Given the description of an element on the screen output the (x, y) to click on. 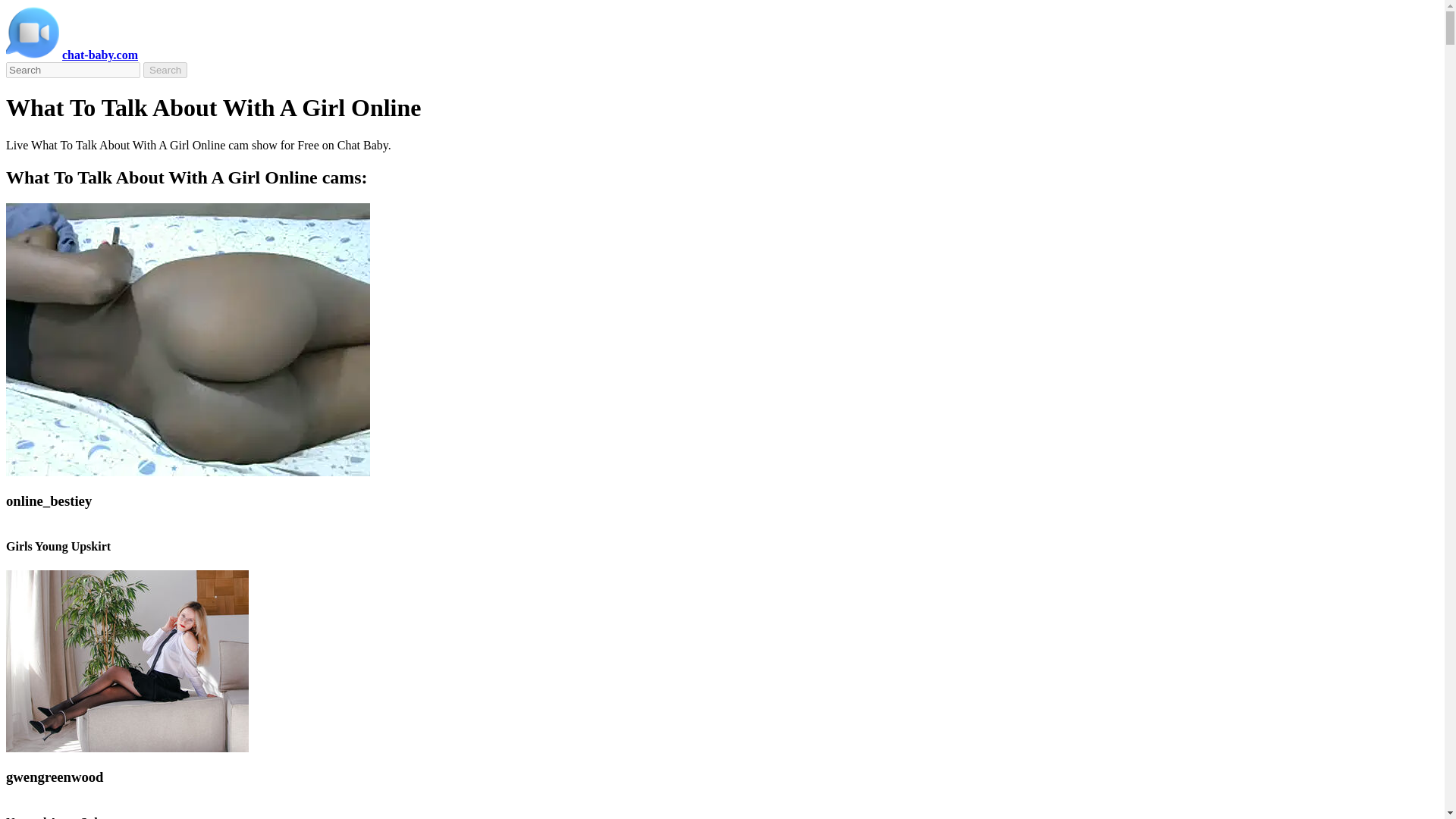
chat-baby.com (100, 54)
Search (164, 69)
